Given the description of an element on the screen output the (x, y) to click on. 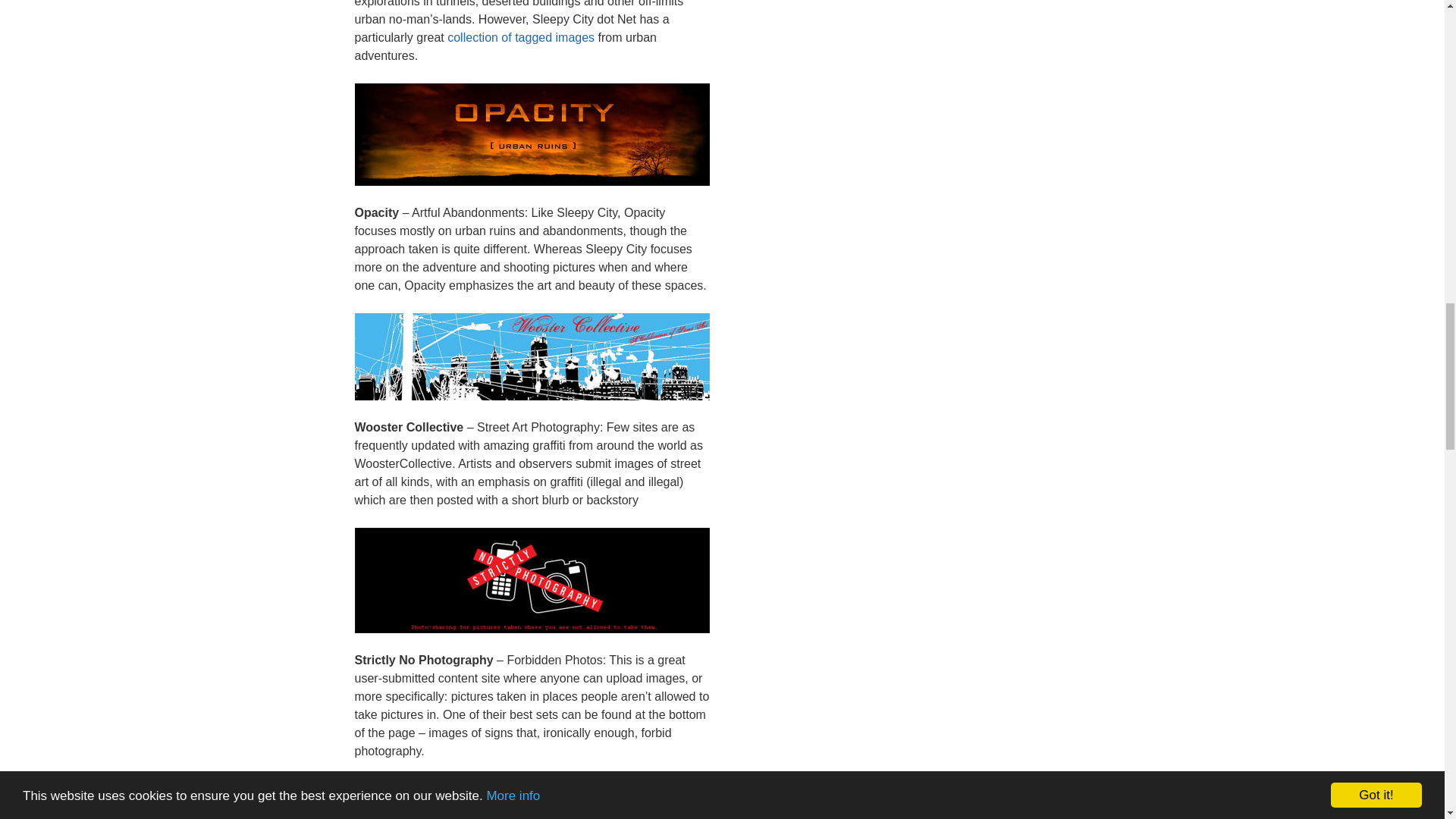
Sleepy City Tag Cloud (520, 37)
collection of tagged images (520, 37)
